Given the description of an element on the screen output the (x, y) to click on. 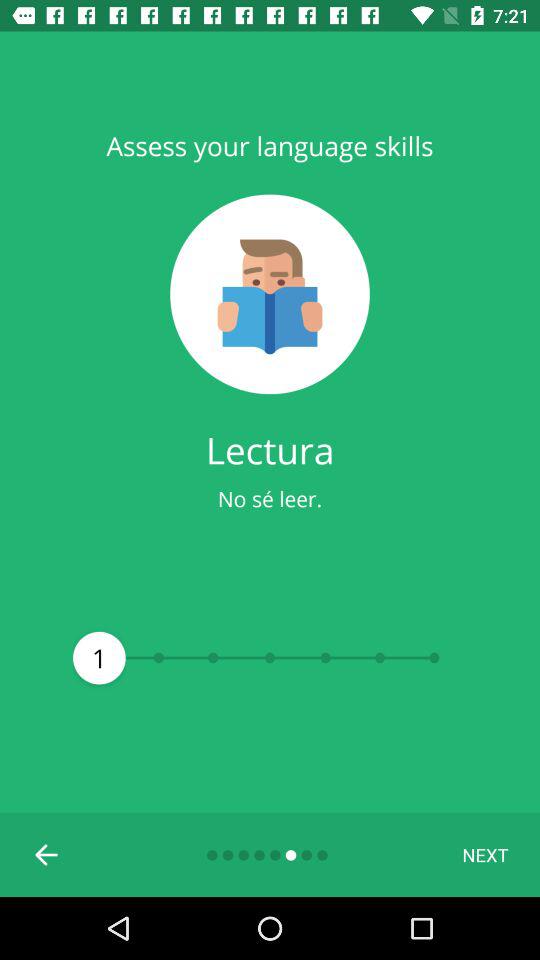
go to previous (47, 855)
